Given the description of an element on the screen output the (x, y) to click on. 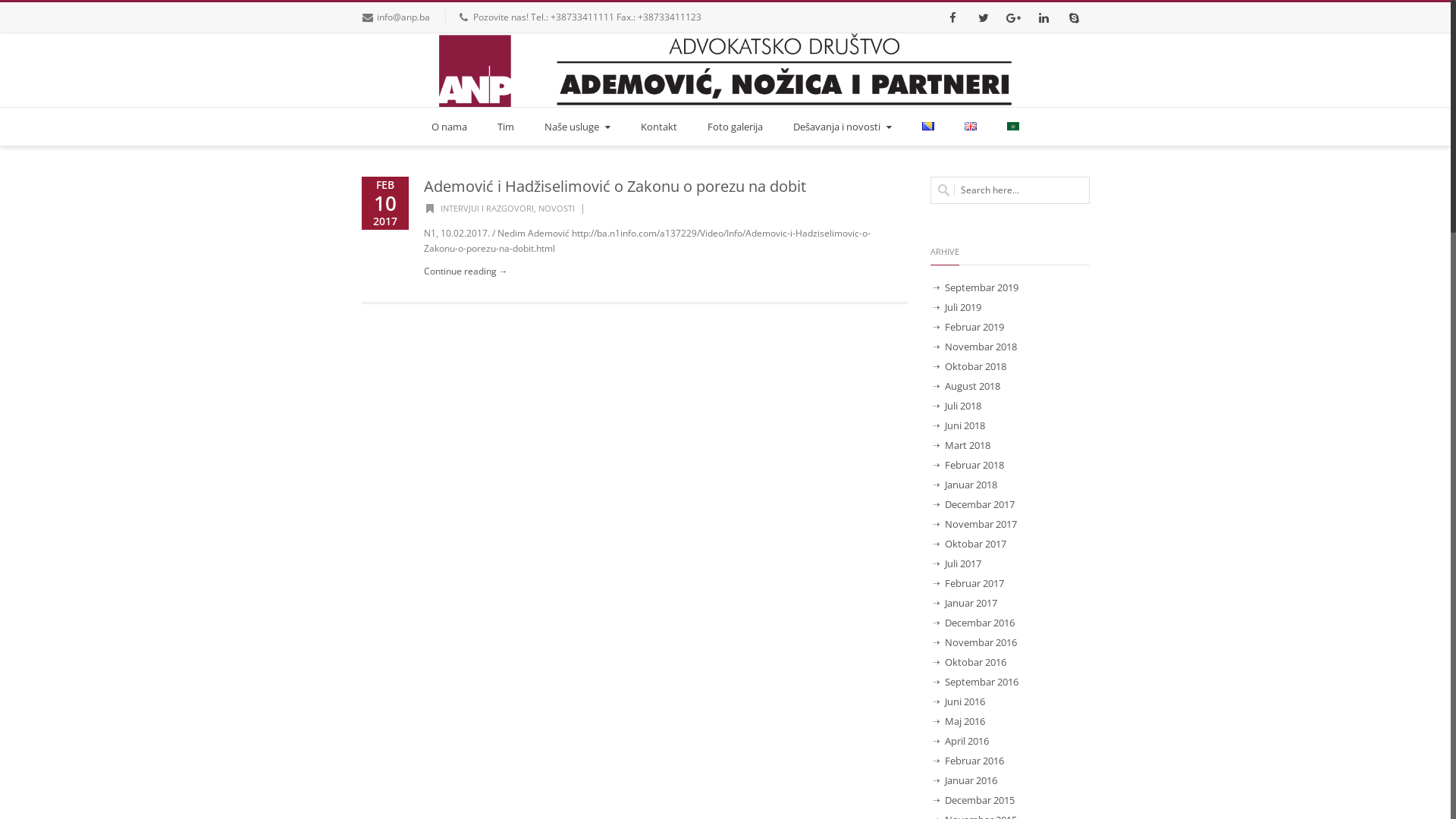
Mart 2018 Element type: text (961, 445)
Septembar 2016 Element type: text (975, 681)
Februar 2017 Element type: text (968, 583)
Search here... Element type: text (1008, 189)
INTERVJUI I RAZGOVORI Element type: text (486, 207)
Kontakt Element type: text (658, 126)
Januar 2017 Element type: text (965, 602)
Septembar 2019 Element type: text (975, 287)
submit Element type: text (20, 9)
NOVOSTI Element type: text (556, 207)
Bosanski Element type: hover (928, 126)
Maj 2016 Element type: text (959, 721)
Februar 2016 Element type: text (968, 760)
Novembar 2017 Element type: text (975, 523)
English Element type: hover (970, 126)
Juli 2018 Element type: text (957, 405)
Decembar 2015 Element type: text (974, 799)
Januar 2018 Element type: text (965, 484)
Oktobar 2018 Element type: text (969, 366)
info@anp.ba Element type: text (402, 16)
Oktobar 2016 Element type: text (969, 661)
Juli 2019 Element type: text (957, 306)
Juni 2016 Element type: text (959, 701)
Oktobar 2017 Element type: text (969, 543)
Decembar 2016 Element type: text (974, 622)
Novembar 2018 Element type: text (975, 346)
Juni 2018 Element type: text (959, 425)
Tim Element type: text (505, 126)
August 2018 Element type: text (966, 385)
Foto galerija Element type: text (734, 126)
Juli 2017 Element type: text (957, 563)
Novembar 2016 Element type: text (975, 642)
O nama Element type: text (448, 126)
Februar 2018 Element type: text (968, 464)
Decembar 2017 Element type: text (974, 504)
April 2016 Element type: text (961, 740)
Januar 2016 Element type: text (965, 780)
Februar 2019 Element type: text (968, 326)
